Given the description of an element on the screen output the (x, y) to click on. 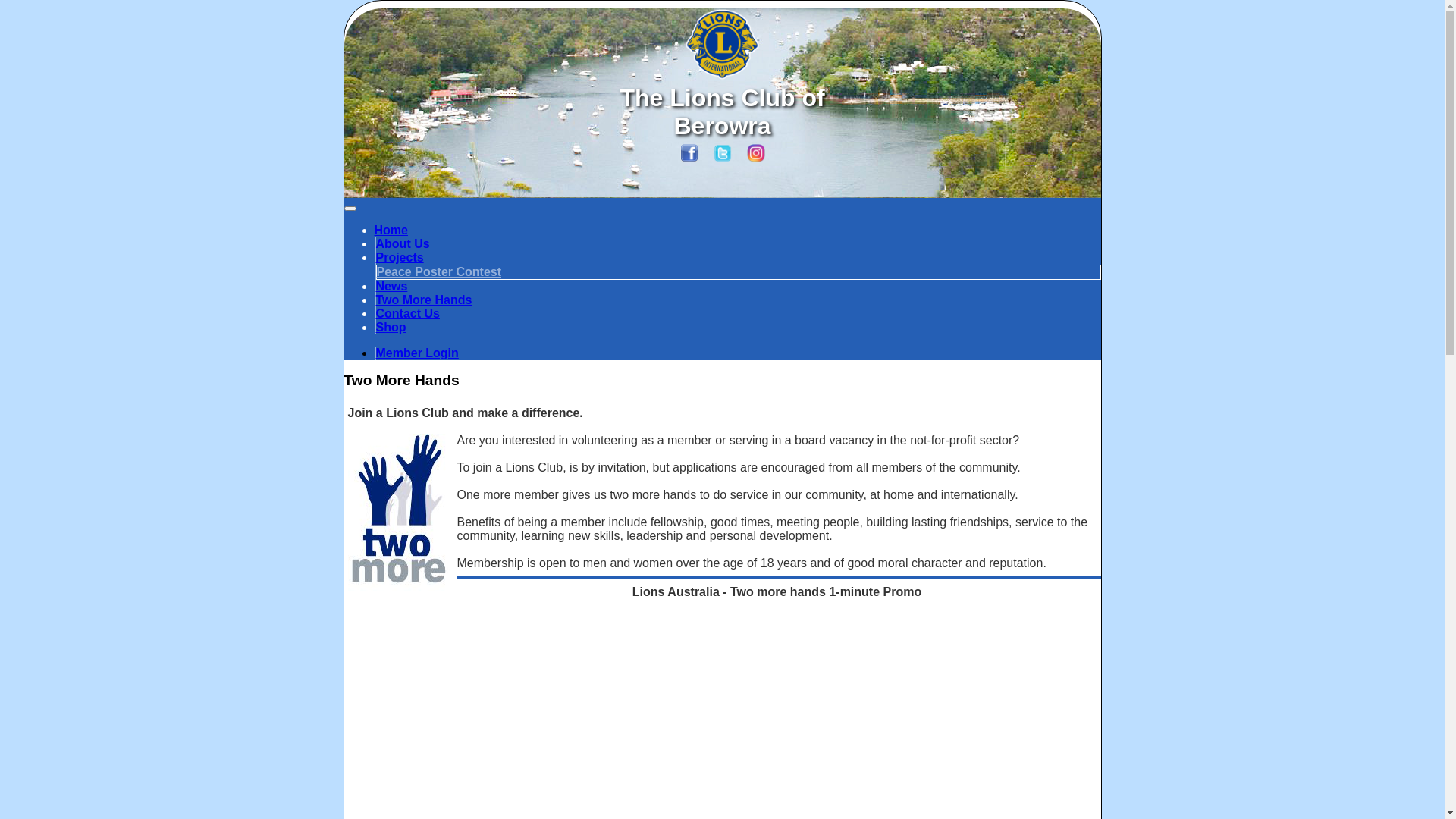
Home Element type: text (390, 229)
News Element type: text (391, 285)
Member Login Element type: text (417, 352)
Contact Us Element type: text (407, 313)
Shop Element type: text (391, 326)
Projects Element type: text (399, 257)
Twitter Element type: hover (721, 157)
Peace Poster Contest Element type: text (438, 271)
Two More Hands Element type: text (424, 299)
About Us Element type: text (402, 243)
Facebook Element type: hover (688, 157)
Instagram Element type: hover (755, 157)
